Given the description of an element on the screen output the (x, y) to click on. 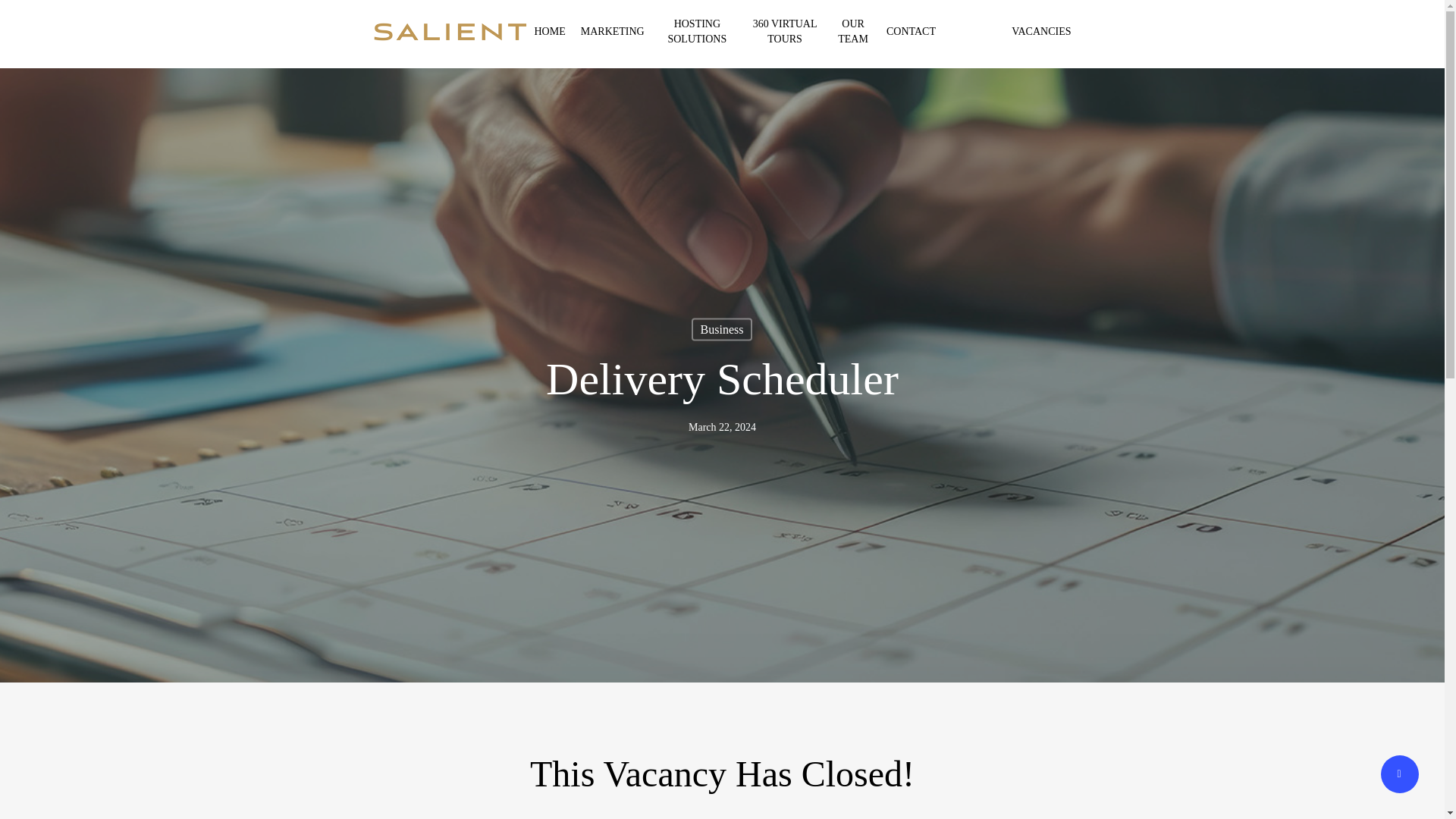
360 VIRTUAL TOURS (784, 31)
HOSTING SOLUTIONS (697, 31)
MARKETING (612, 31)
OUR TEAM (852, 31)
HOME (549, 31)
CONTACT (911, 31)
VACANCIES (1040, 31)
Business (721, 329)
